Given the description of an element on the screen output the (x, y) to click on. 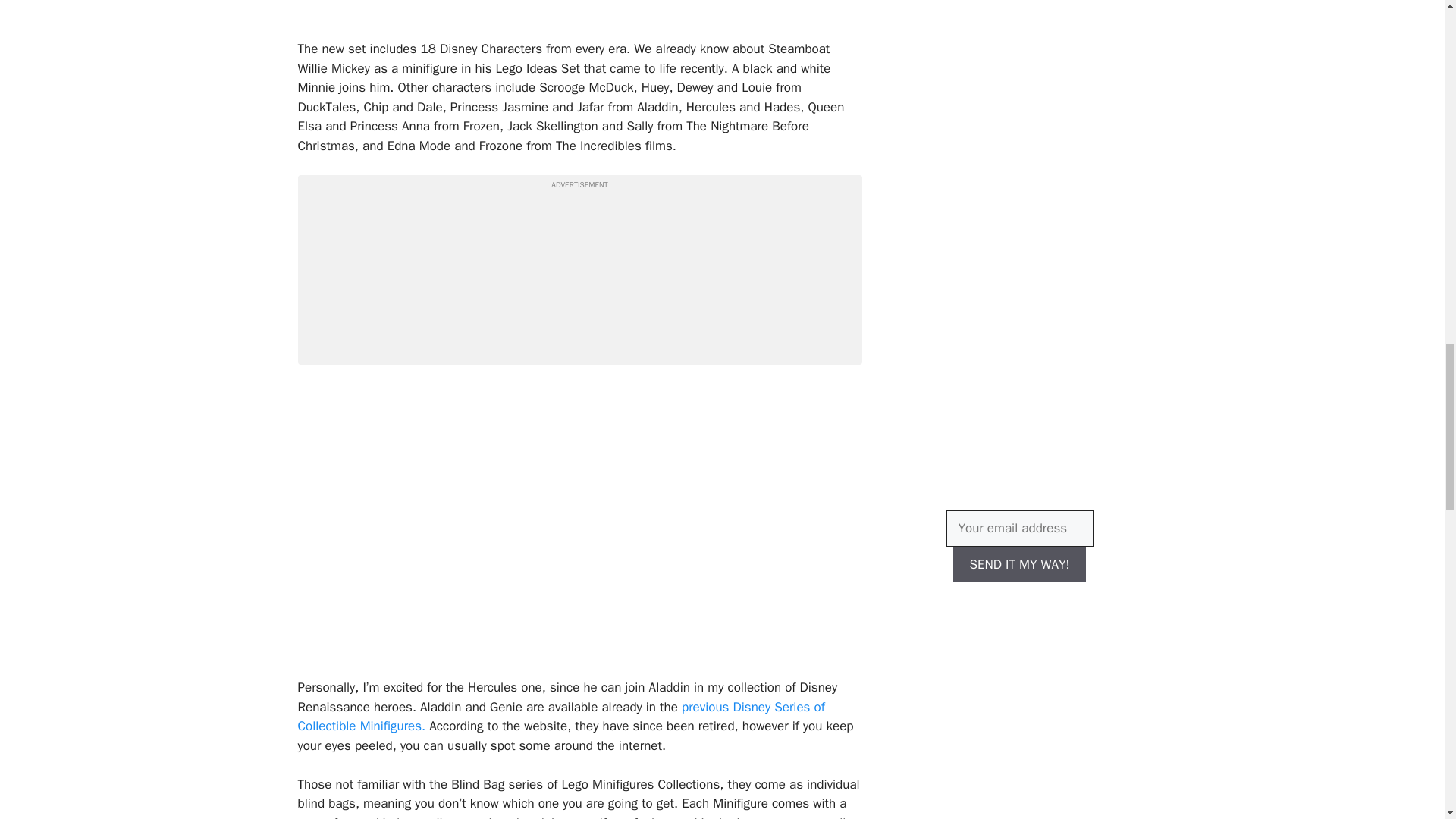
SEND IT MY WAY! (1018, 565)
